Given the description of an element on the screen output the (x, y) to click on. 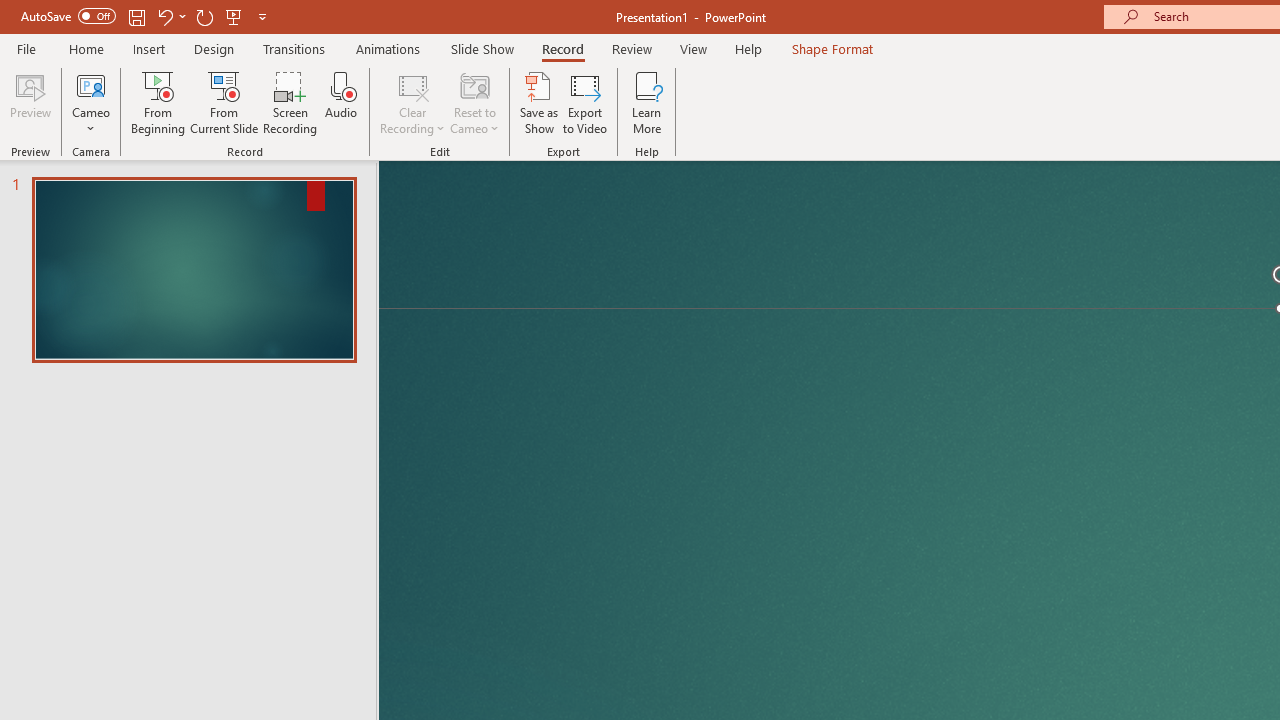
Audio (341, 102)
Shape Format (832, 48)
From Current Slide... (224, 102)
Export to Video (585, 102)
Preview (30, 102)
Screen Recording (290, 102)
